Given the description of an element on the screen output the (x, y) to click on. 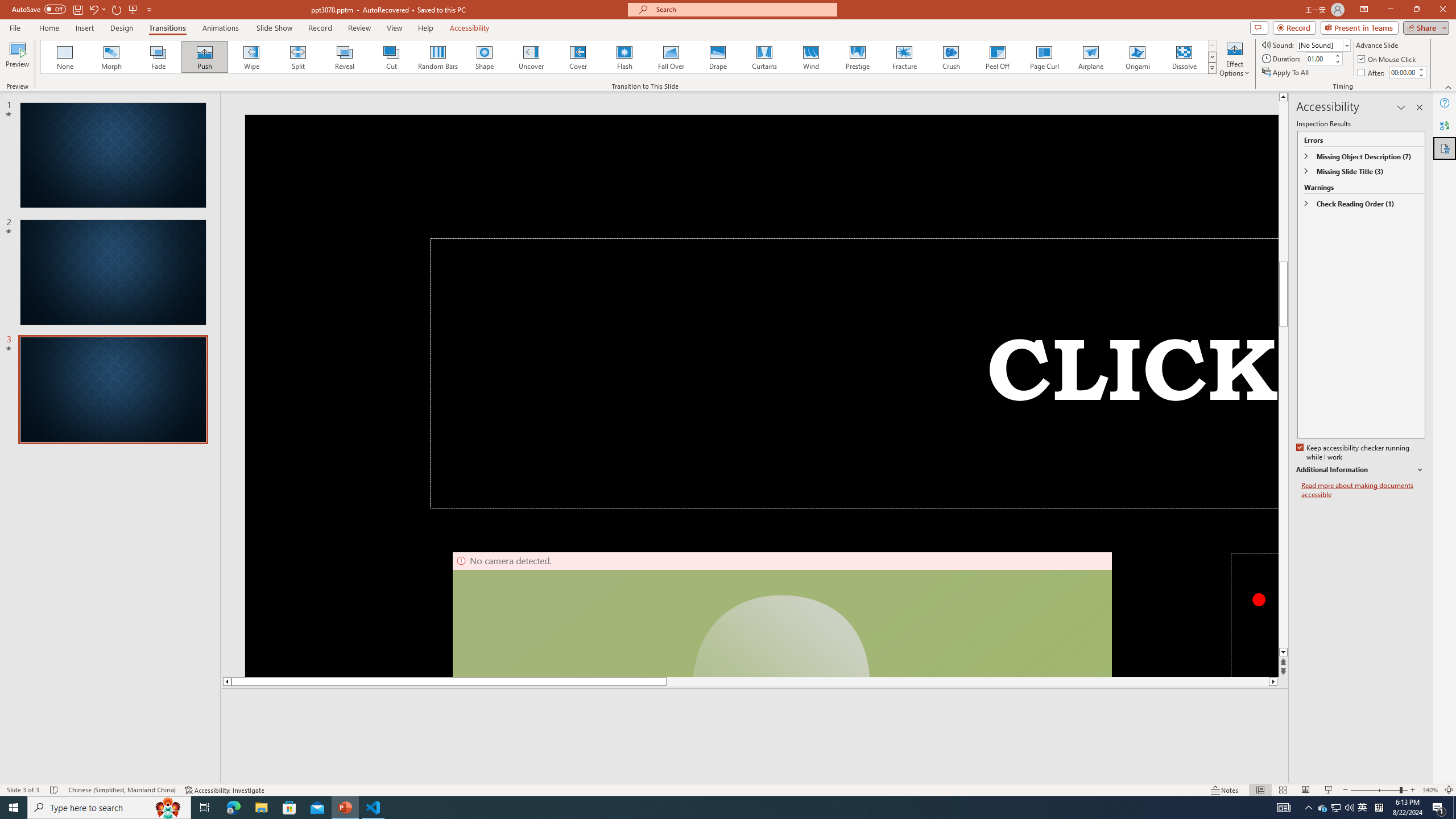
Reveal (344, 56)
AutomationID: AnimationTransitionGallery (628, 56)
Effect Options (1234, 58)
Fade (158, 56)
Transition Effects (1212, 67)
